Given the description of an element on the screen output the (x, y) to click on. 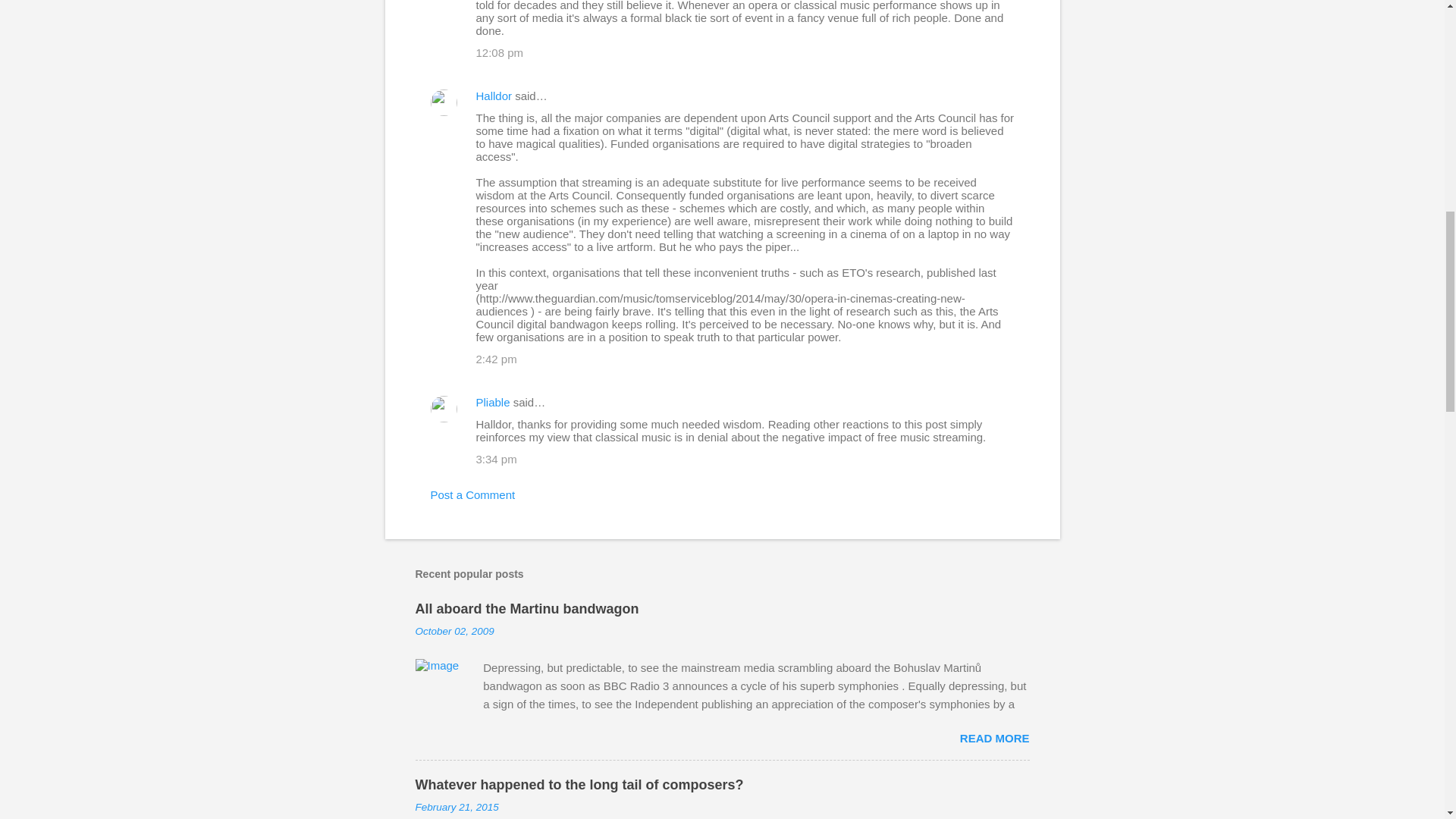
READ MORE (994, 738)
Pliable (493, 401)
All aboard the Martinu bandwagon (526, 608)
Whatever happened to the long tail of composers? (579, 784)
2:42 pm (496, 358)
Halldor (494, 95)
12:08 pm (500, 51)
February 21, 2015 (456, 807)
3:34 pm (496, 459)
Post a Comment (472, 494)
October 02, 2009 (454, 631)
comment permalink (500, 51)
